Given the description of an element on the screen output the (x, y) to click on. 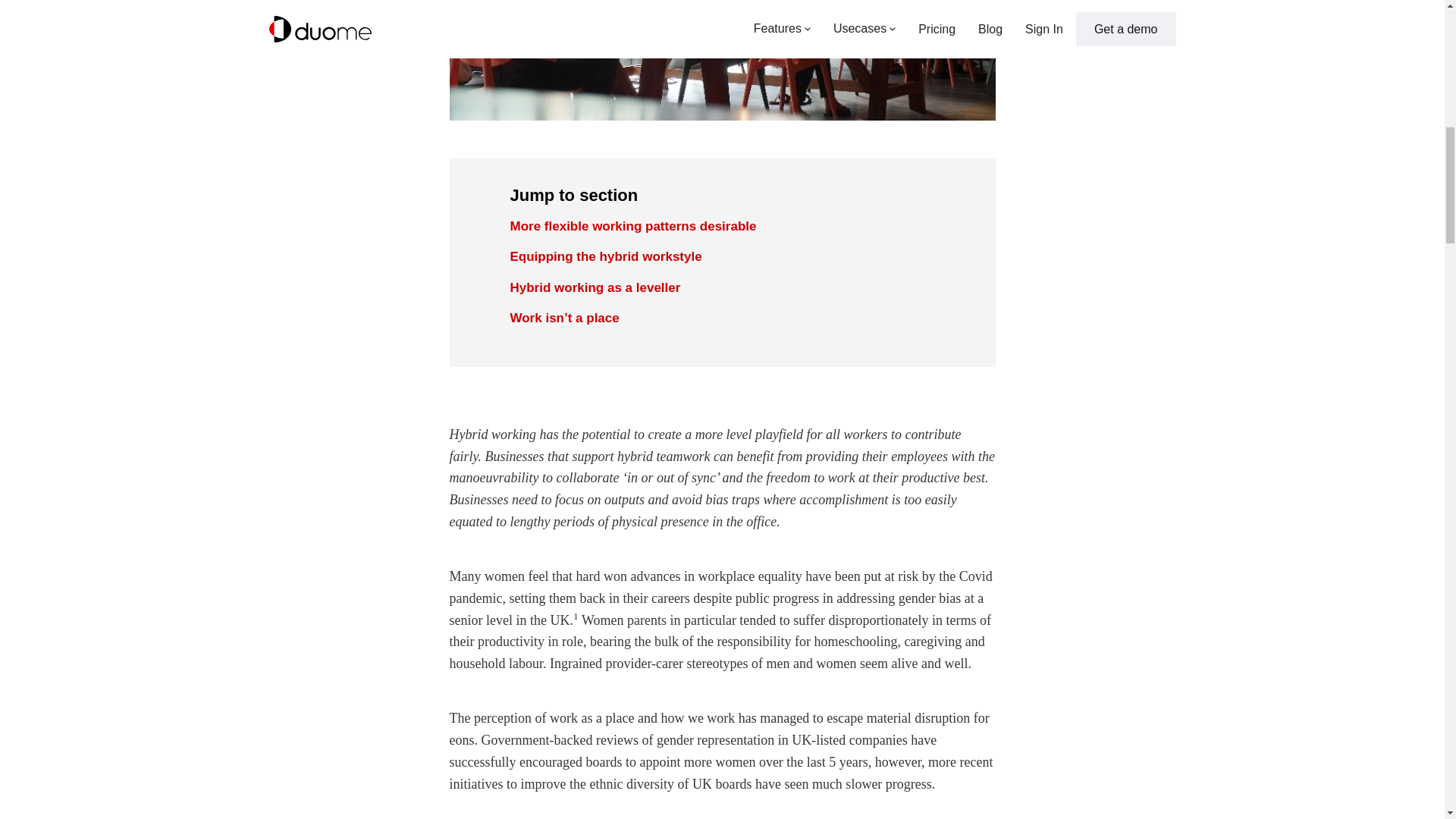
More flexible working patterns desirable (721, 226)
